Given the description of an element on the screen output the (x, y) to click on. 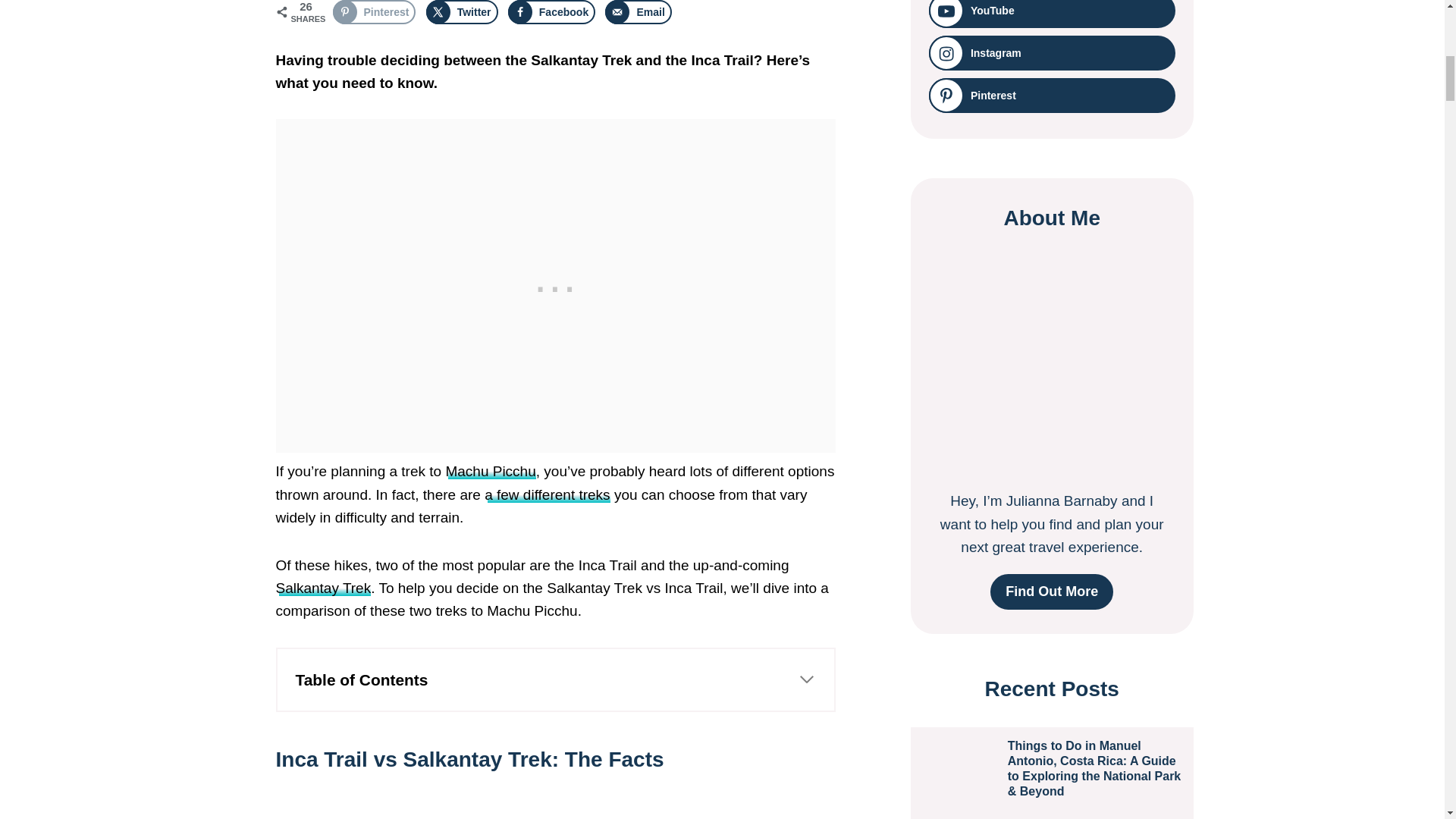
Follow on YouTube (1051, 13)
Follow on Instagram (1051, 53)
Share on X (461, 12)
Follow on Pinterest (1051, 95)
Share on Facebook (551, 12)
Save to Pinterest (372, 12)
Send over email (638, 12)
